Given the description of an element on the screen output the (x, y) to click on. 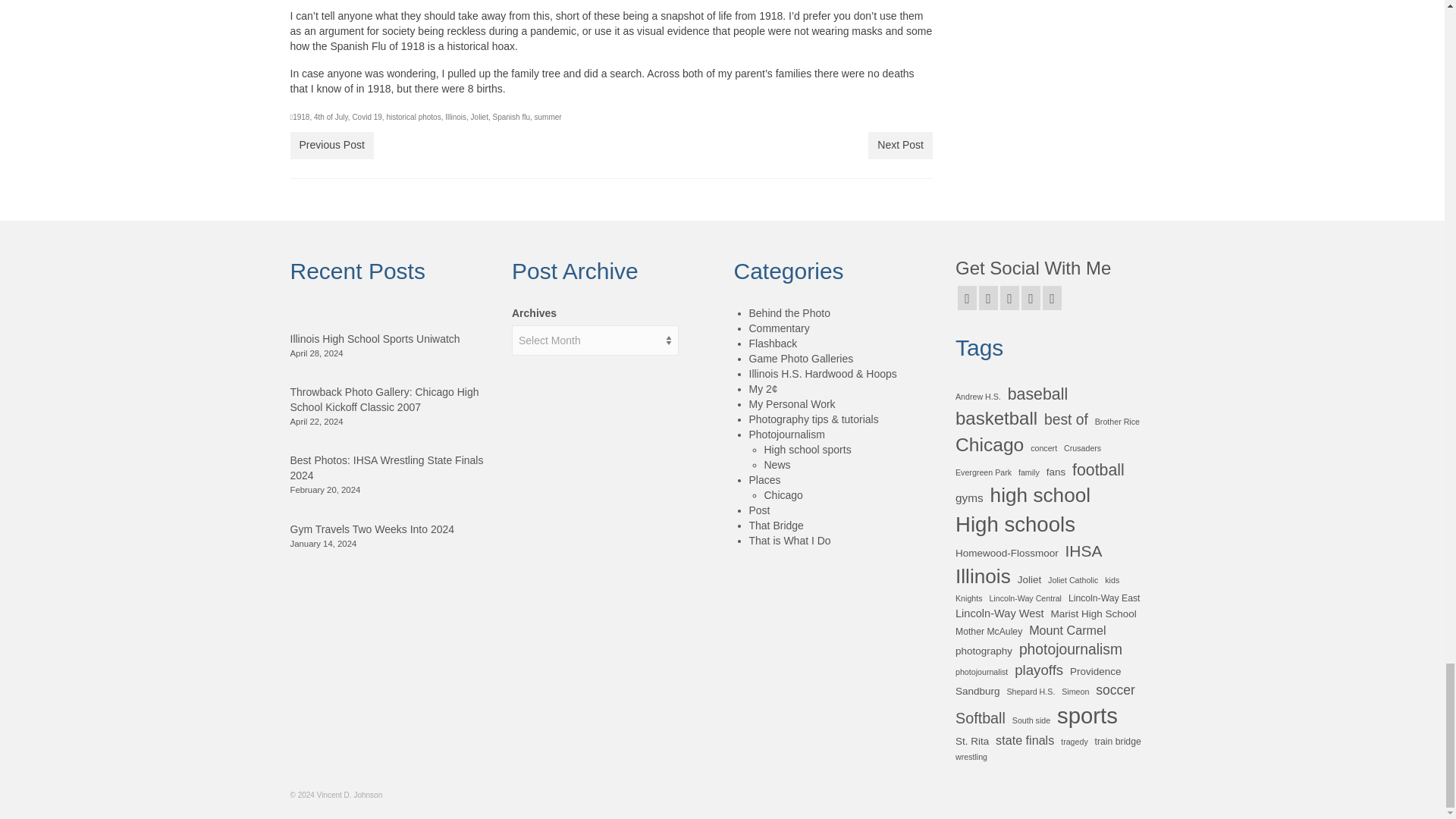
1918 (300, 117)
Illinois (455, 117)
summer (548, 117)
Joliet (478, 117)
Next Post (900, 144)
Previous Post (330, 144)
Covid 19 (366, 117)
4th of July (330, 117)
historical photos (413, 117)
Spanish flu (511, 117)
